Given the description of an element on the screen output the (x, y) to click on. 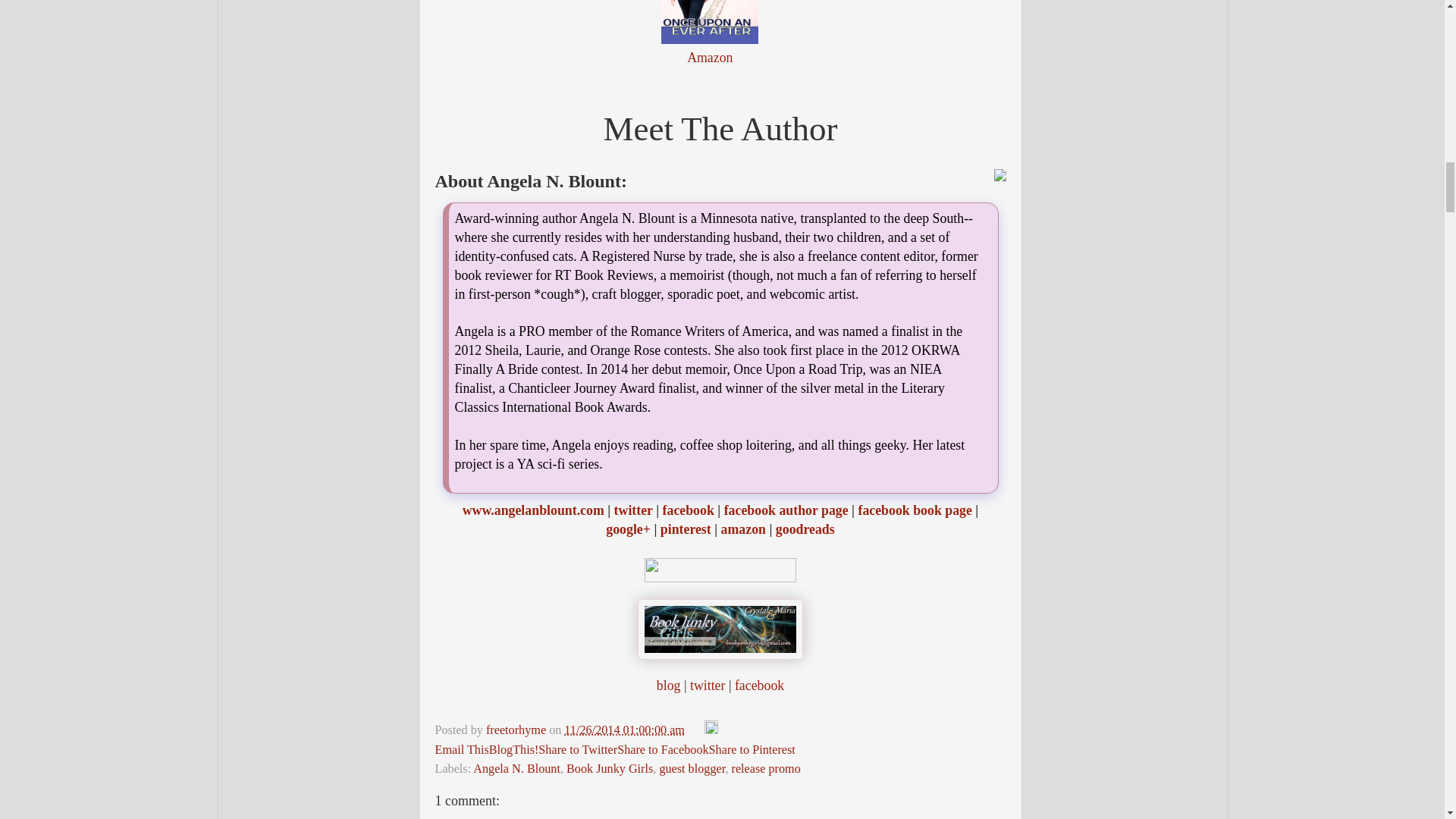
Email Post (695, 730)
Email This (462, 749)
BlogThis! (513, 749)
Book 2: ONCE UPON AN EVER AFTER (709, 22)
Edit Post (710, 730)
author profile (517, 730)
permanent link (624, 730)
Amazon (709, 57)
www.angelanblount.com (533, 509)
